Given the description of an element on the screen output the (x, y) to click on. 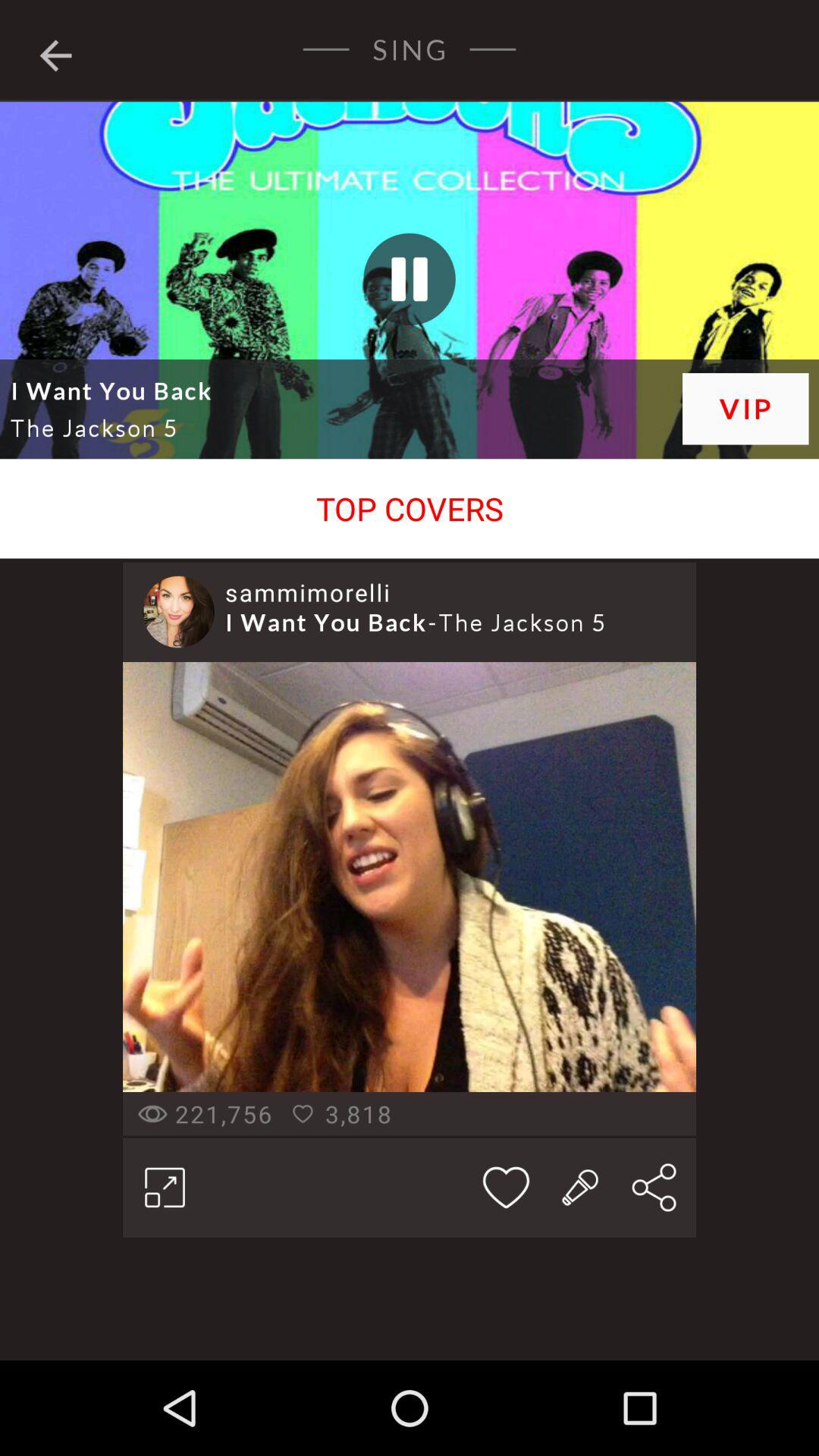
turn on the icon above the i want you icon (307, 592)
